Given the description of an element on the screen output the (x, y) to click on. 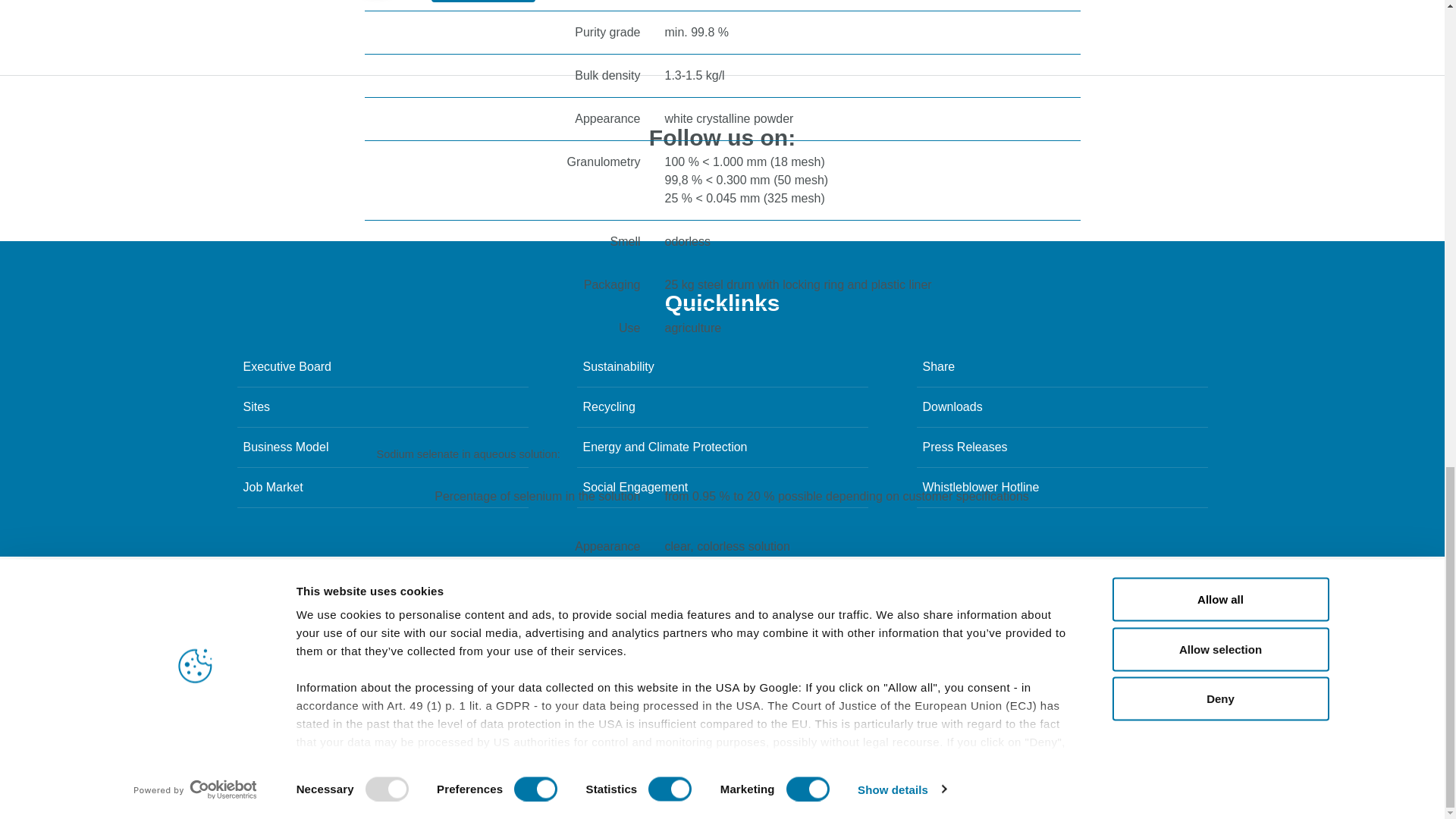
Instagram (699, 182)
TikTok (756, 182)
Linkedin (587, 182)
Youtube (811, 182)
Facebook (643, 182)
X (868, 182)
